Given the description of an element on the screen output the (x, y) to click on. 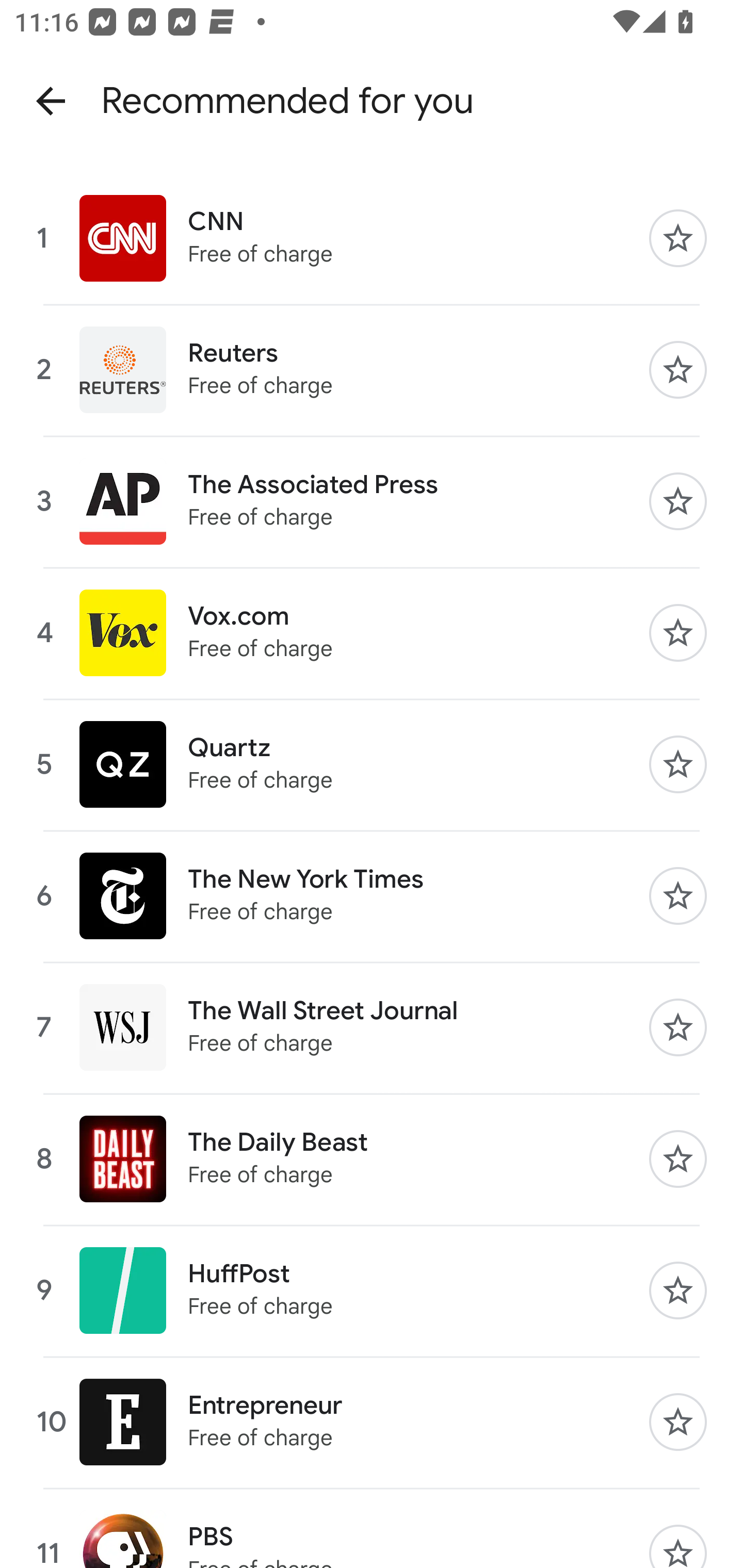
Navigate up (50, 101)
1 CNN Free of charge Follow (371, 238)
Follow (677, 238)
2 Reuters Free of charge Follow (371, 369)
Follow (677, 369)
3 The Associated Press Free of charge Follow (371, 500)
Follow (677, 500)
4 Vox.com Free of charge Follow (371, 632)
Follow (677, 632)
5 Quartz Free of charge Follow (371, 764)
Follow (677, 764)
6 The New York Times Free of charge Follow (371, 896)
Follow (677, 896)
7 The Wall Street Journal Free of charge Follow (371, 1027)
Follow (677, 1027)
8 The Daily Beast Free of charge Follow (371, 1159)
Follow (677, 1159)
9 HuffPost Free of charge Follow (371, 1290)
Follow (677, 1290)
10 Entrepreneur Free of charge Follow (371, 1421)
Follow (677, 1421)
11 PBS Free of charge Follow (371, 1528)
Follow (677, 1546)
